Given the description of an element on the screen output the (x, y) to click on. 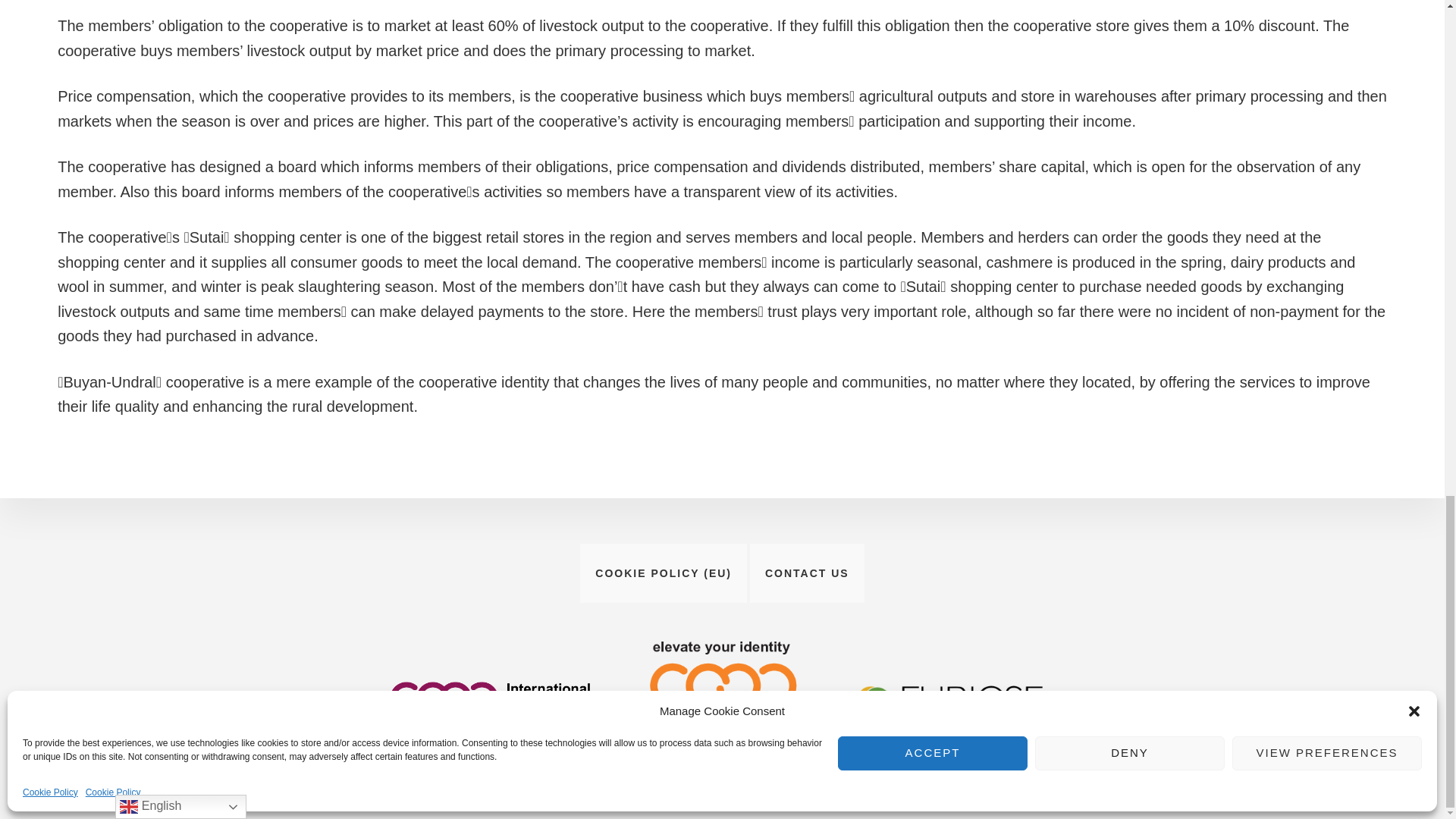
MunchDigitalMedia (903, 766)
DotCooperation (788, 766)
CONTACT US (806, 572)
